Given the description of an element on the screen output the (x, y) to click on. 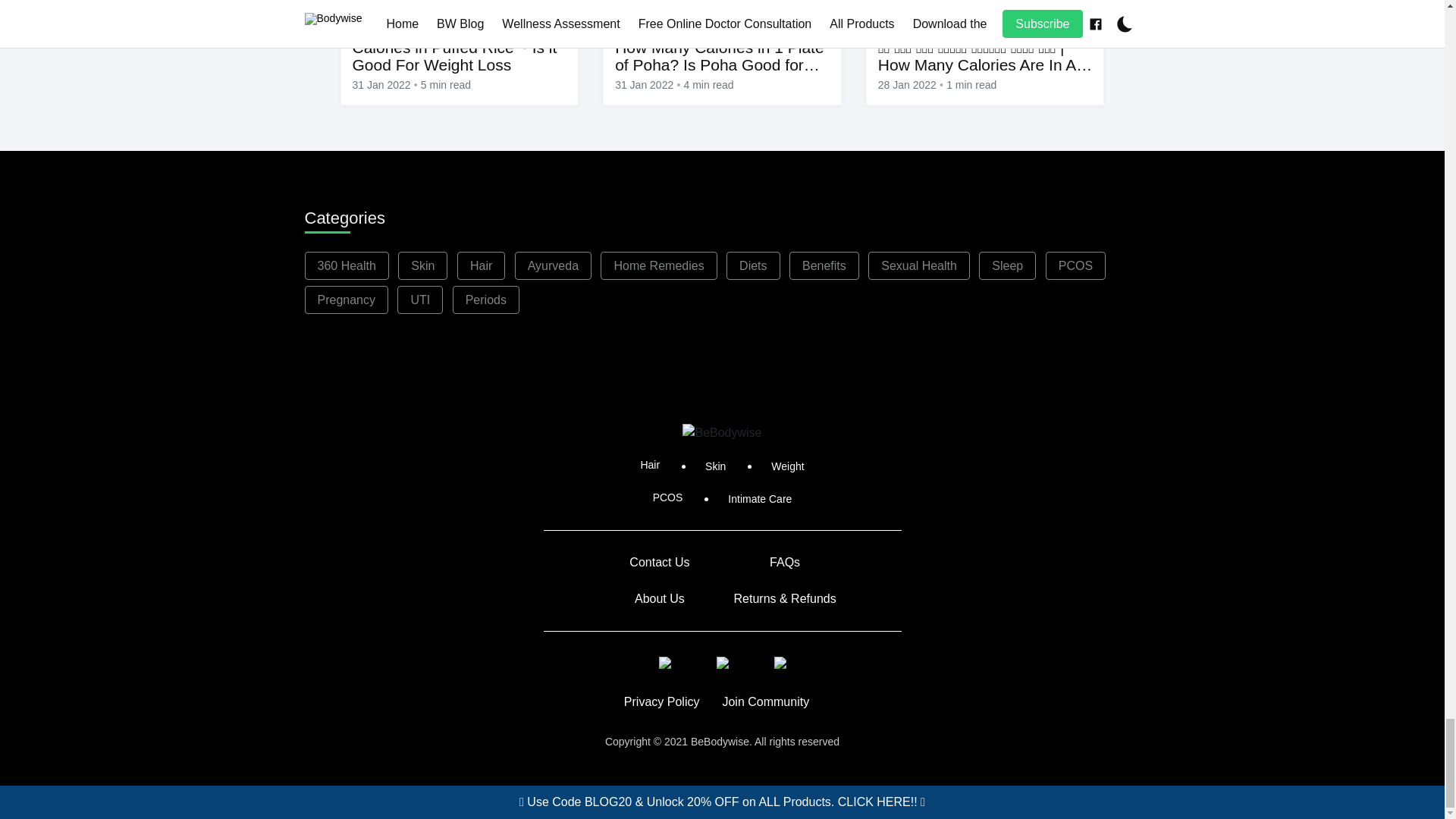
4 min read (708, 84)
5 min read (445, 84)
1 min read (970, 84)
